Given the description of an element on the screen output the (x, y) to click on. 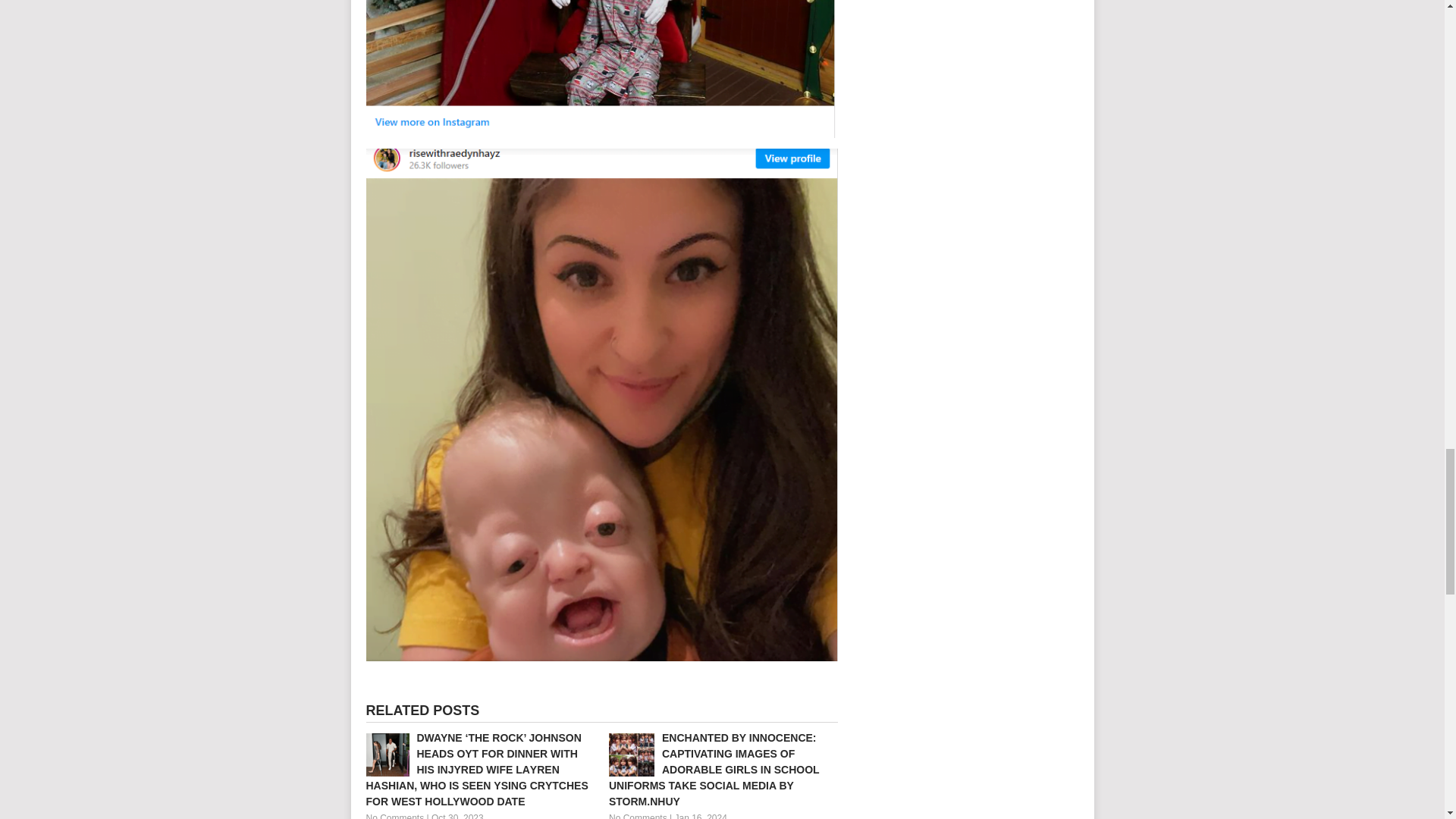
No Comments (394, 816)
No Comments (637, 816)
